Given the description of an element on the screen output the (x, y) to click on. 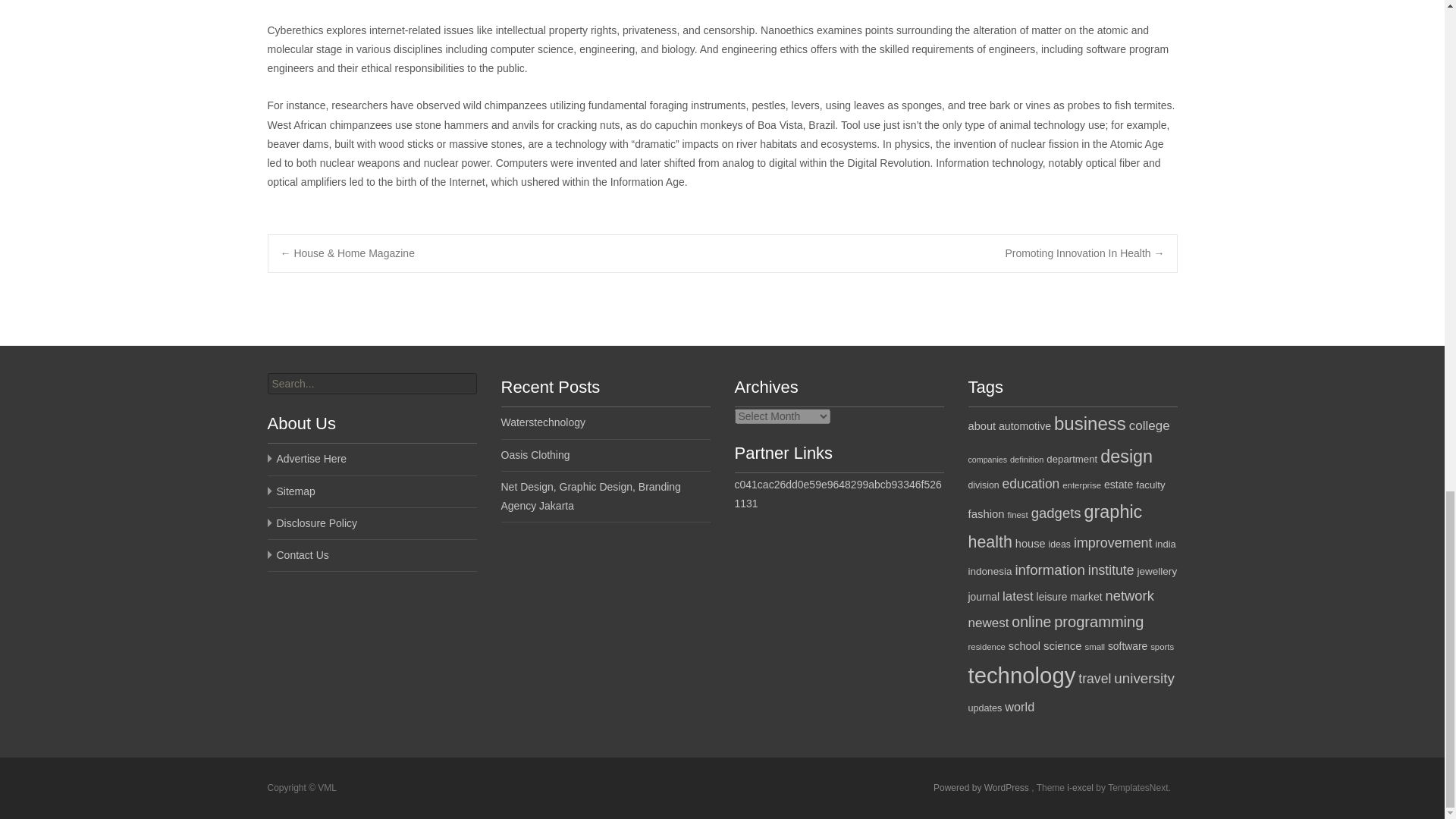
Multipurpose Business WooCommerce Theme (1081, 787)
business (1089, 423)
department (1071, 459)
college (1149, 425)
definition (1026, 459)
division (983, 484)
Net Design, Graphic Design, Branding Agency Jakarta (589, 495)
automotive (1024, 426)
Search for: (371, 383)
about (981, 426)
estate (1118, 484)
design (1126, 456)
Semantic Personal Publishing Platform (981, 787)
Oasis Clothing (534, 454)
enterprise (1081, 484)
